Given the description of an element on the screen output the (x, y) to click on. 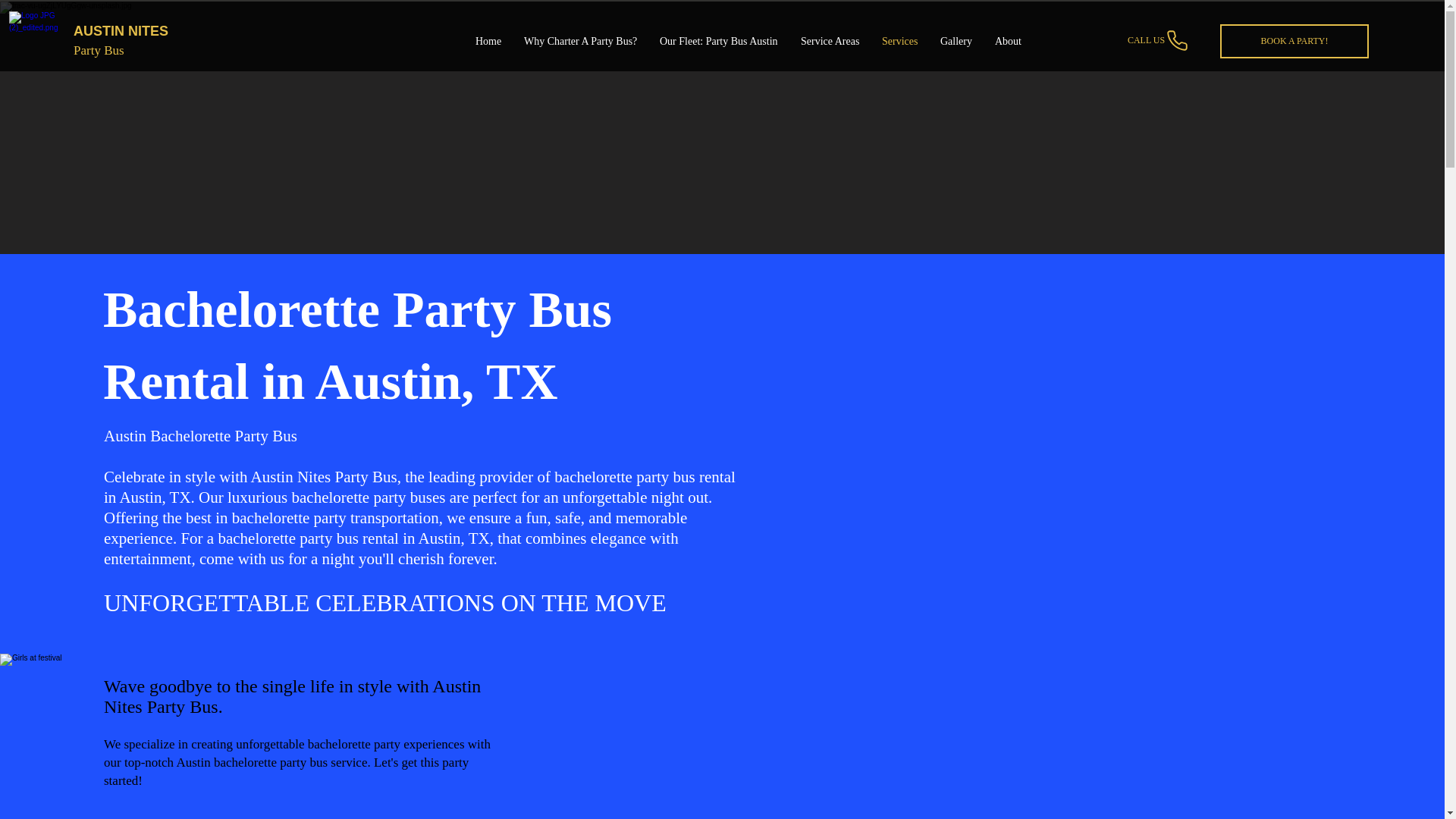
Service Areas (829, 41)
AUSTIN NITES (121, 30)
Home (488, 41)
Gallery (956, 41)
Services (899, 41)
Our Fleet: Party Bus Austin (718, 41)
BOOK A PARTY! (1294, 41)
Why Charter A Party Bus? (579, 41)
CALL US (1158, 40)
About (1008, 41)
Party Bus (98, 50)
